Given the description of an element on the screen output the (x, y) to click on. 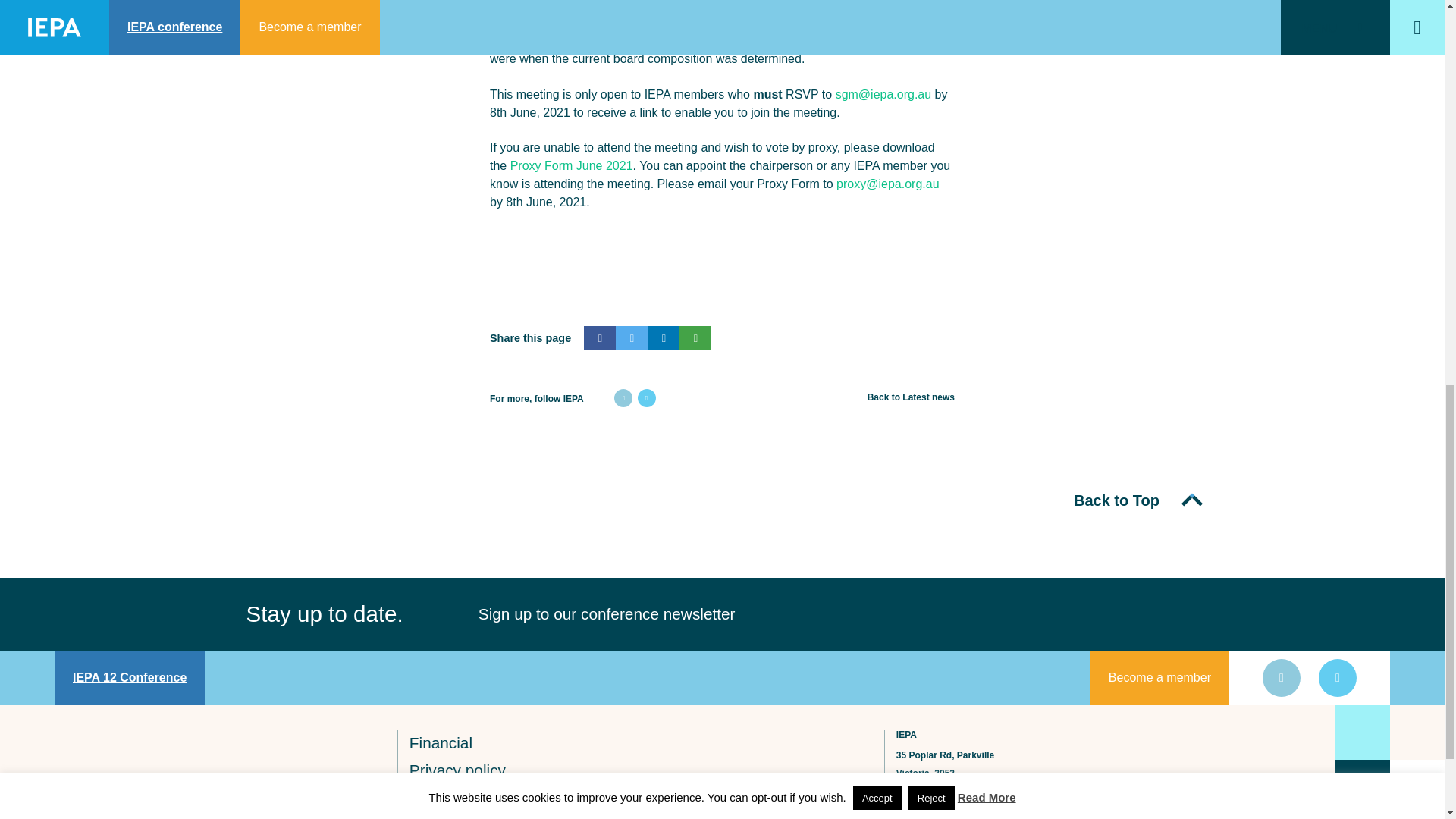
Share this on LinkedIn (663, 337)
Share this on Facebook (599, 337)
Back to Top (1136, 500)
Share this on Twitter (631, 337)
Share this via email (695, 337)
